Given the description of an element on the screen output the (x, y) to click on. 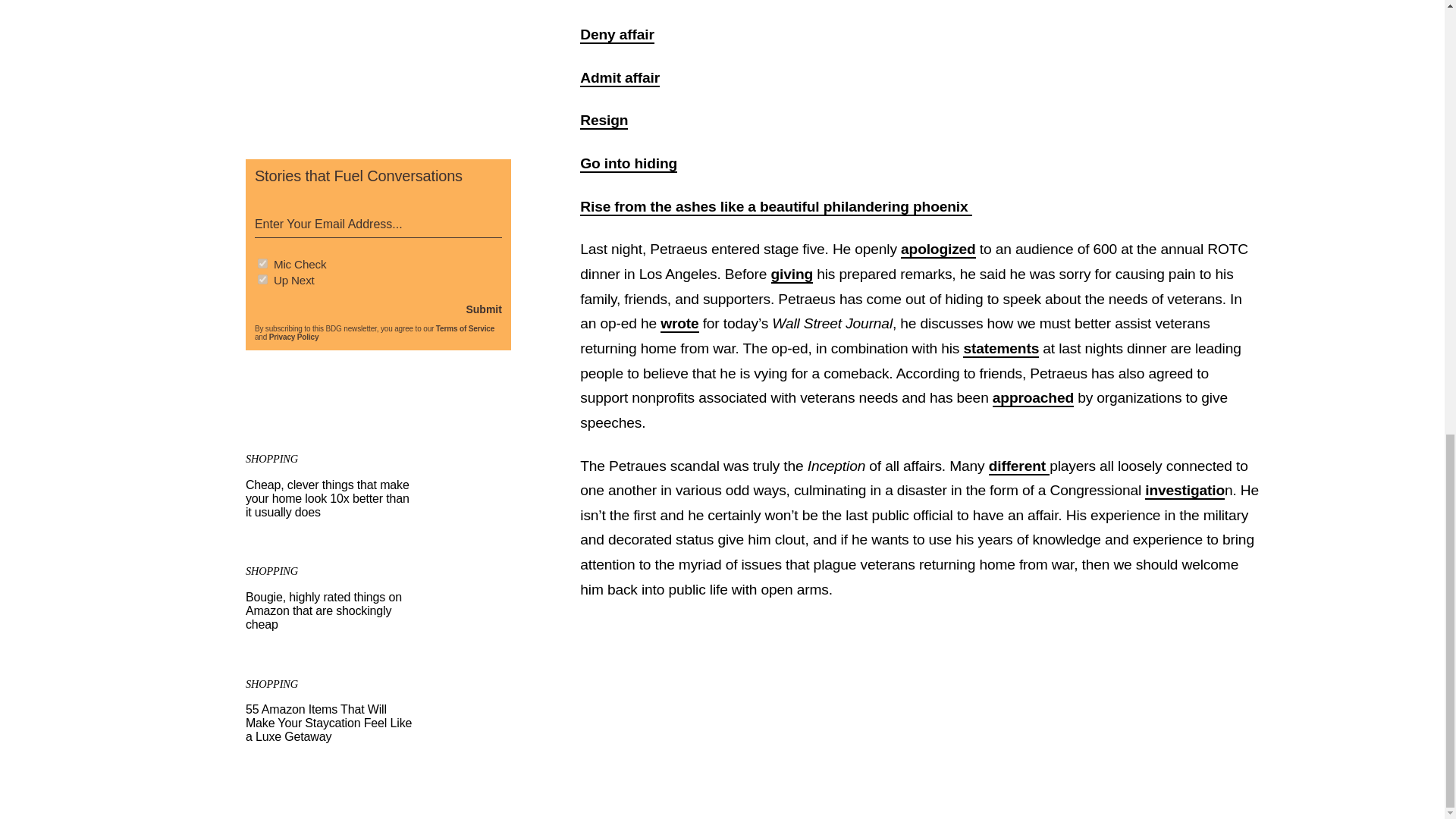
statements (1000, 348)
giving (792, 274)
Rise from the ashes like a beautiful philandering phoenix  (775, 207)
approached (1033, 398)
Privacy Policy (293, 336)
Submit (482, 309)
wrote (679, 323)
different (1018, 466)
Terms of Service (465, 328)
